Given the description of an element on the screen output the (x, y) to click on. 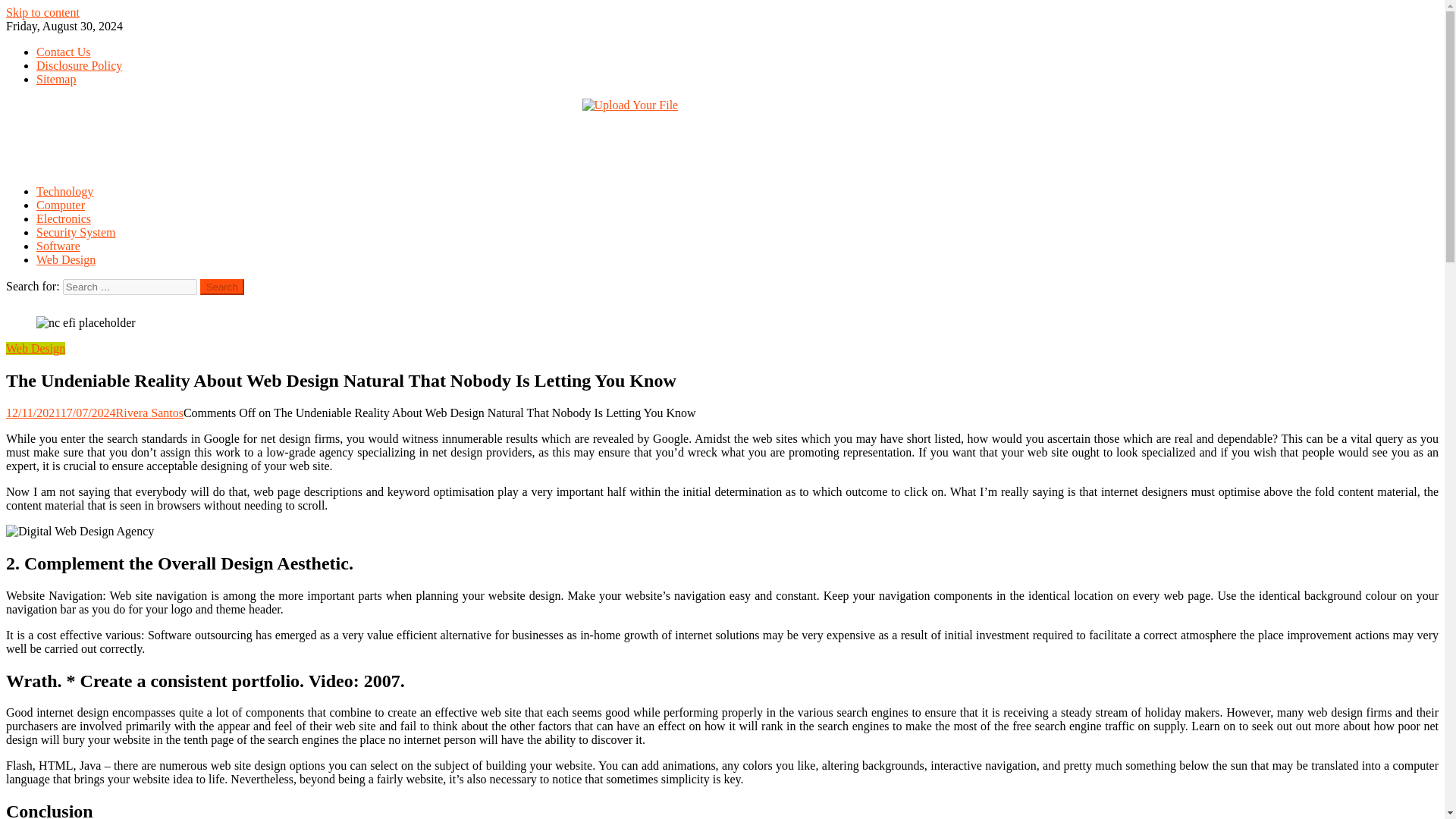
Search (222, 286)
Rivera Santos (149, 412)
Computer (60, 205)
Software (58, 245)
Sitemap (55, 78)
Security System (75, 232)
Skip to content (42, 11)
Contact Us (63, 51)
